Given the description of an element on the screen output the (x, y) to click on. 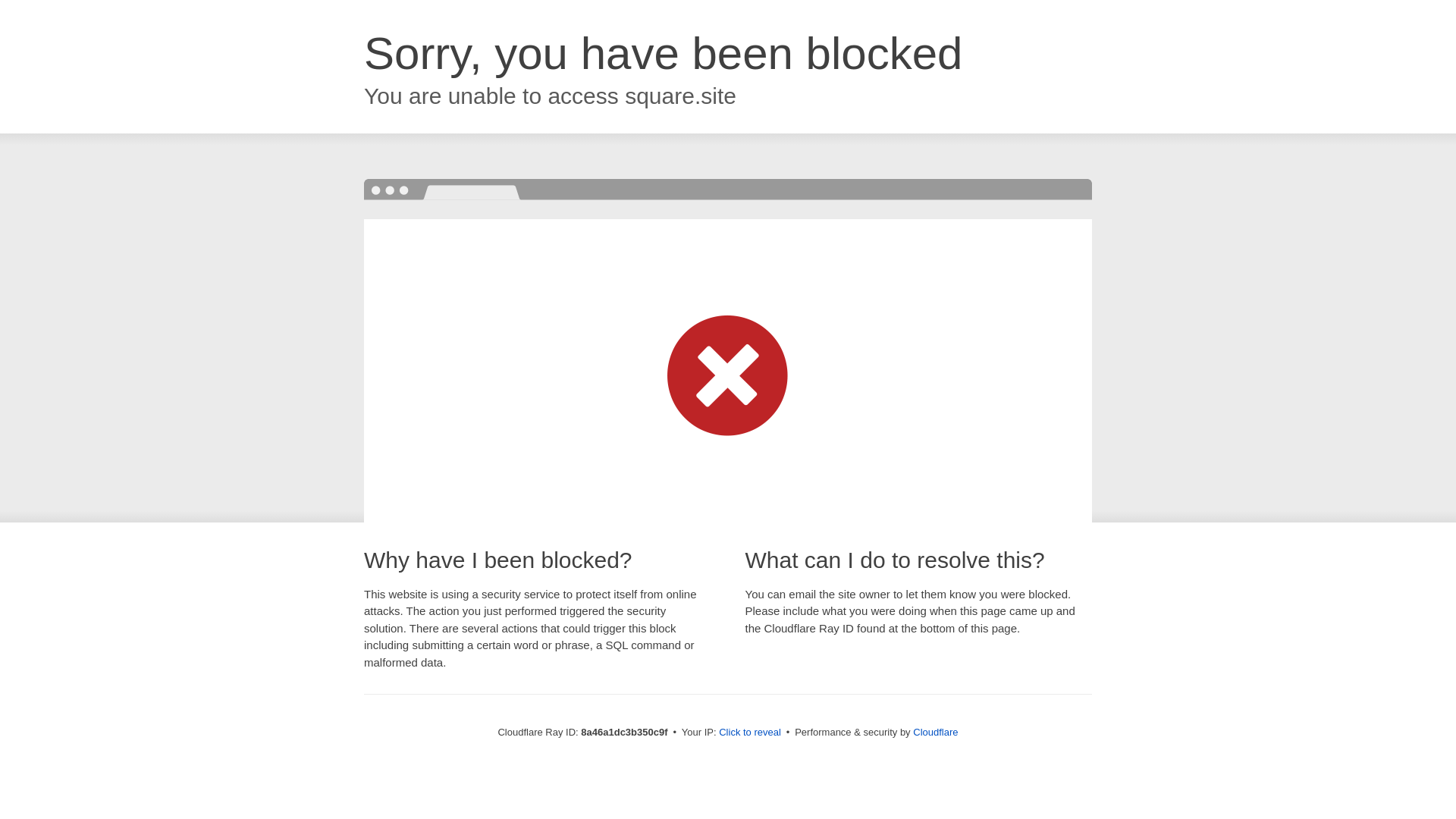
Cloudflare (935, 731)
Click to reveal (749, 732)
